Given the description of an element on the screen output the (x, y) to click on. 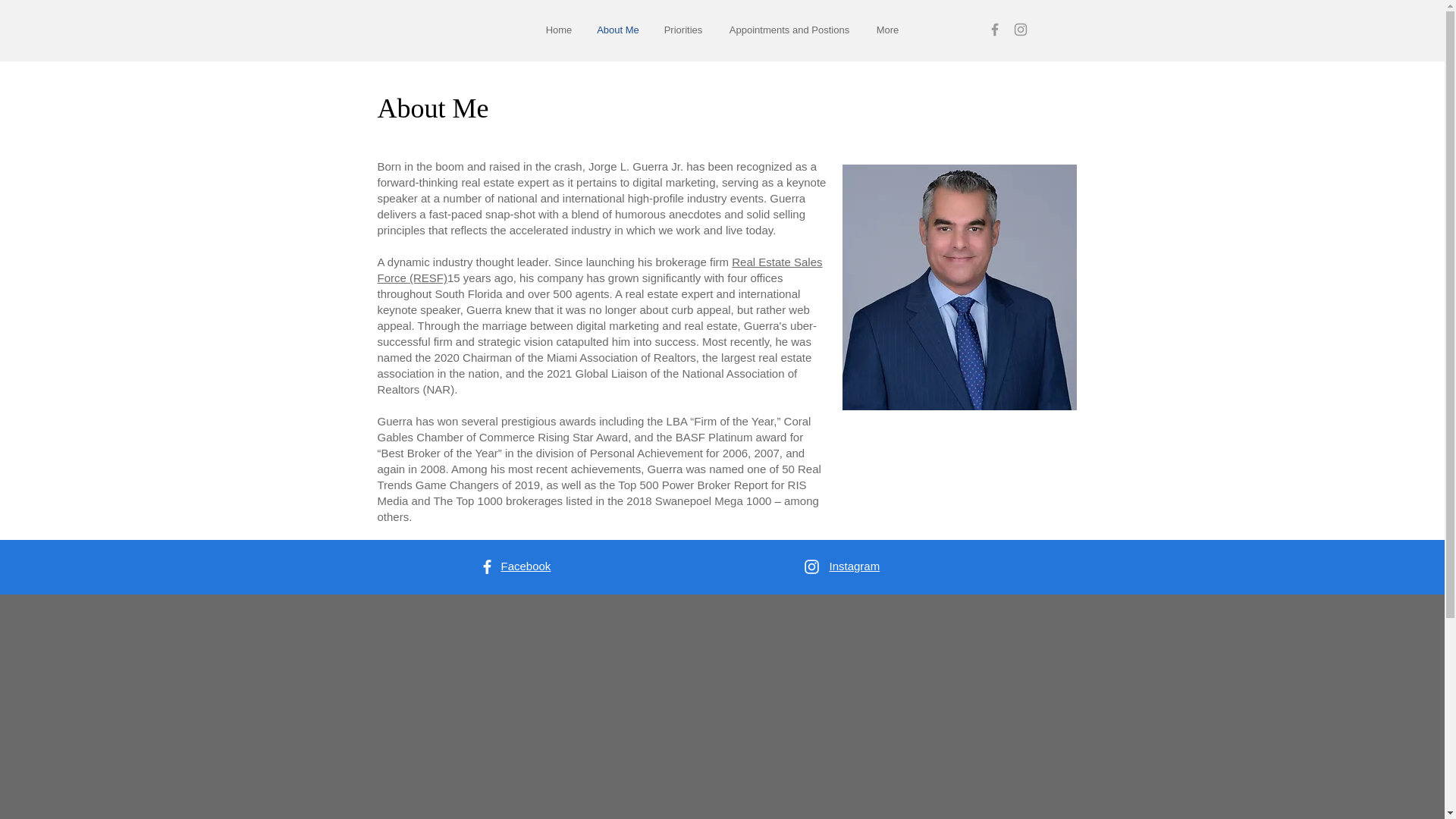
Facebook (525, 565)
About Me (616, 29)
Home (559, 29)
Priorities (683, 29)
Instagram (854, 565)
Appointments and Postions (788, 29)
